Given the description of an element on the screen output the (x, y) to click on. 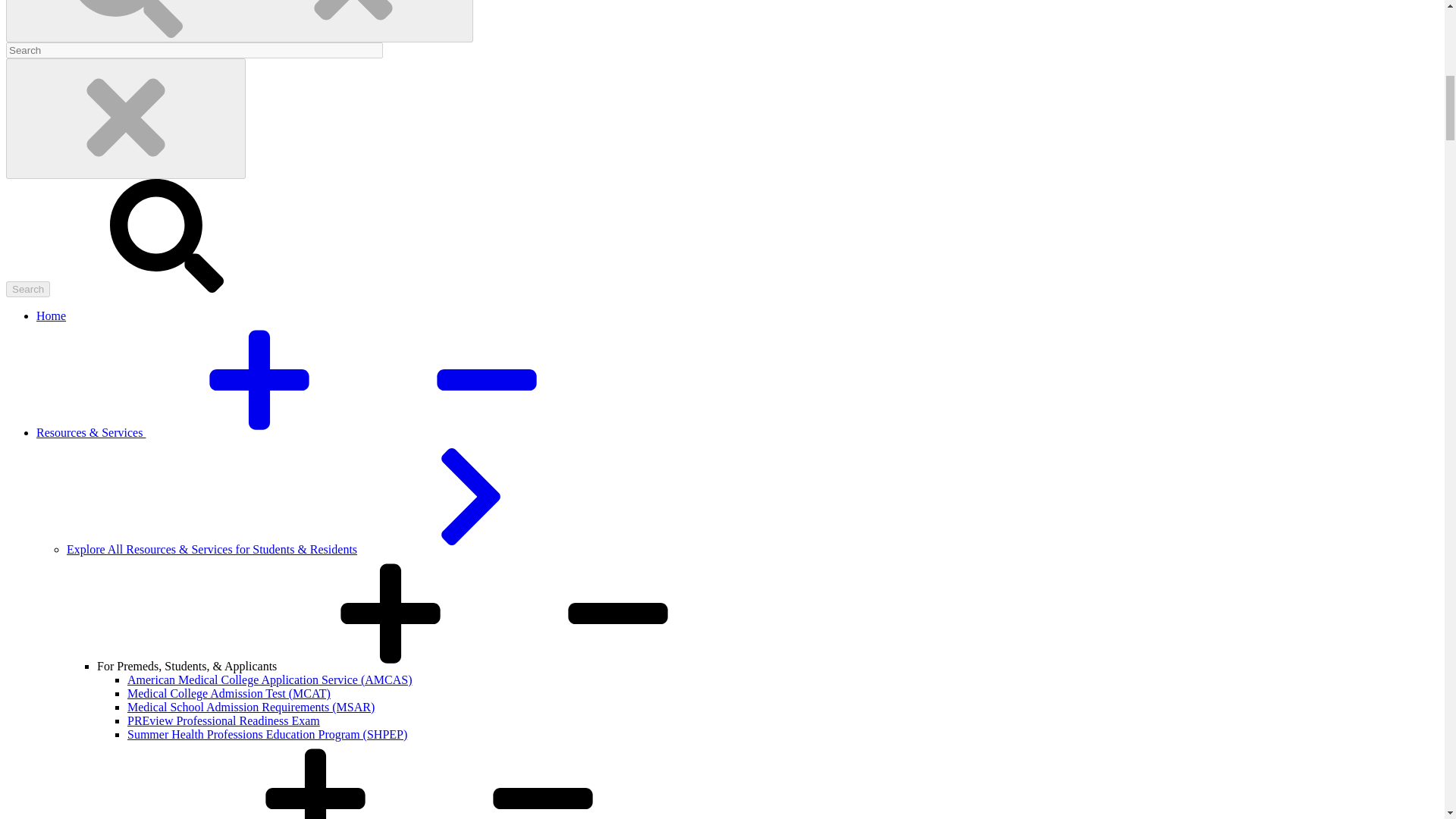
PREview Professional Readiness Exam (224, 720)
Home (50, 315)
Search (27, 289)
Search (27, 289)
